Given the description of an element on the screen output the (x, y) to click on. 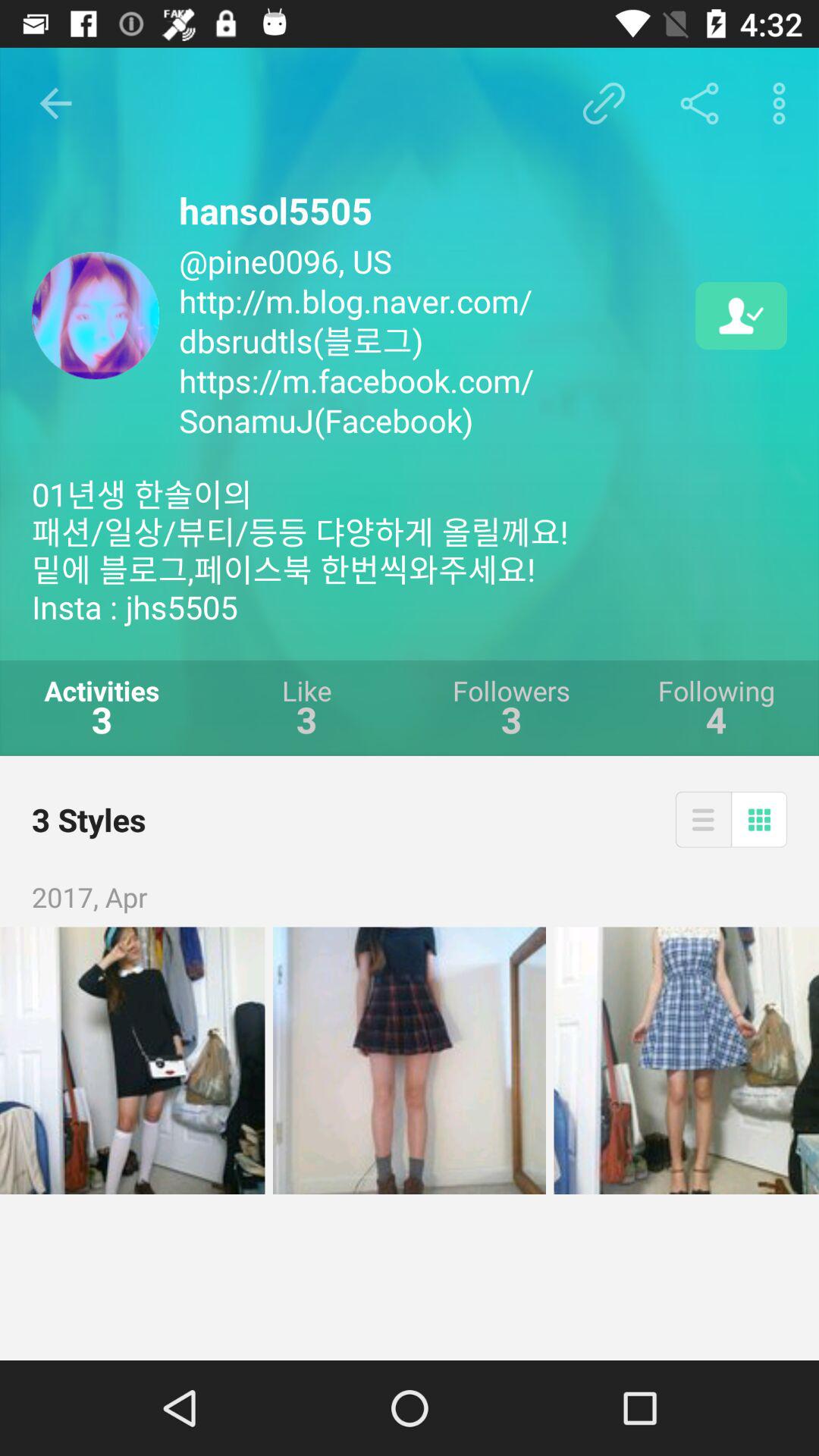
open photo (132, 1060)
